Given the description of an element on the screen output the (x, y) to click on. 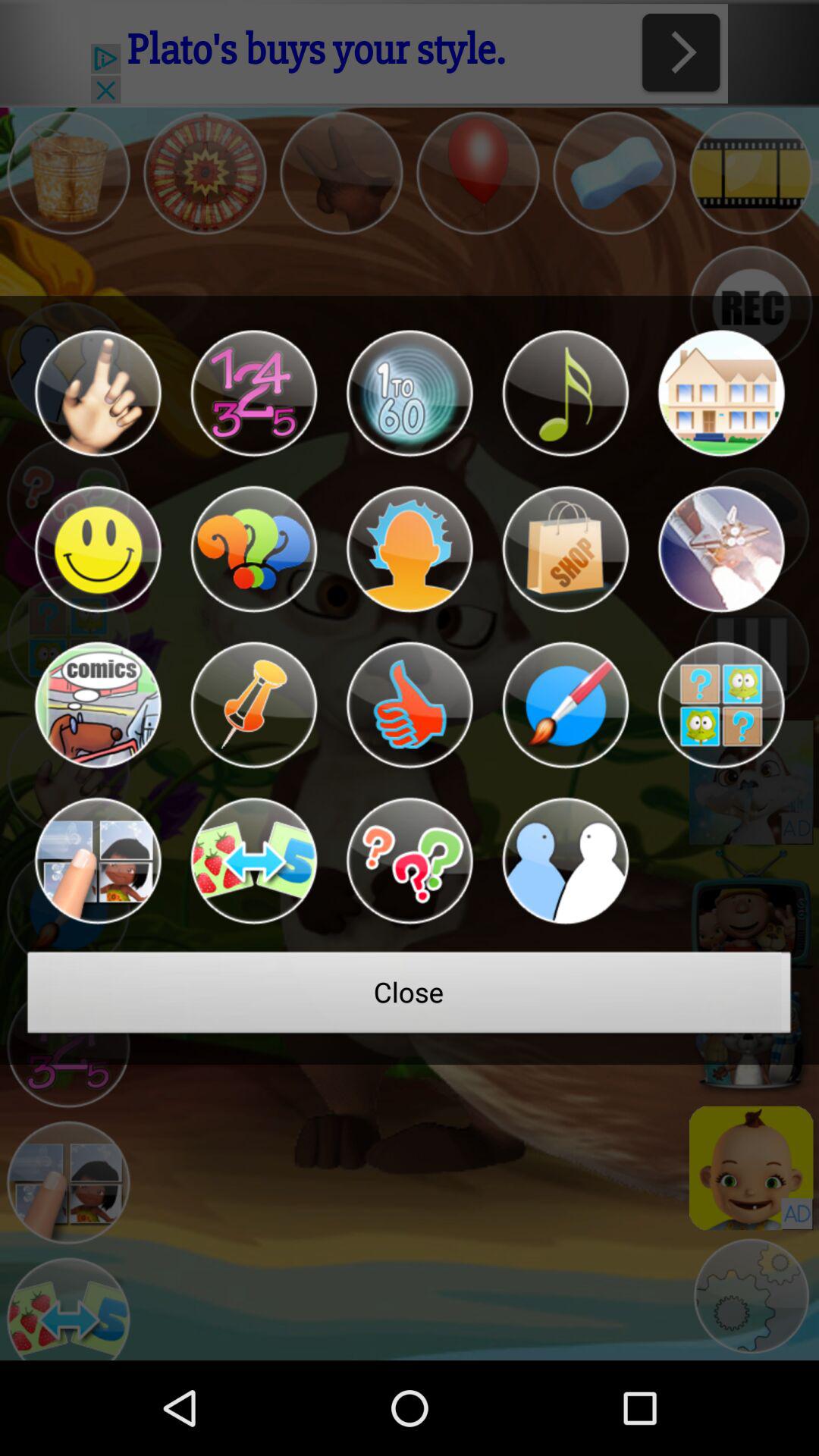
toggle application (97, 705)
